Given the description of an element on the screen output the (x, y) to click on. 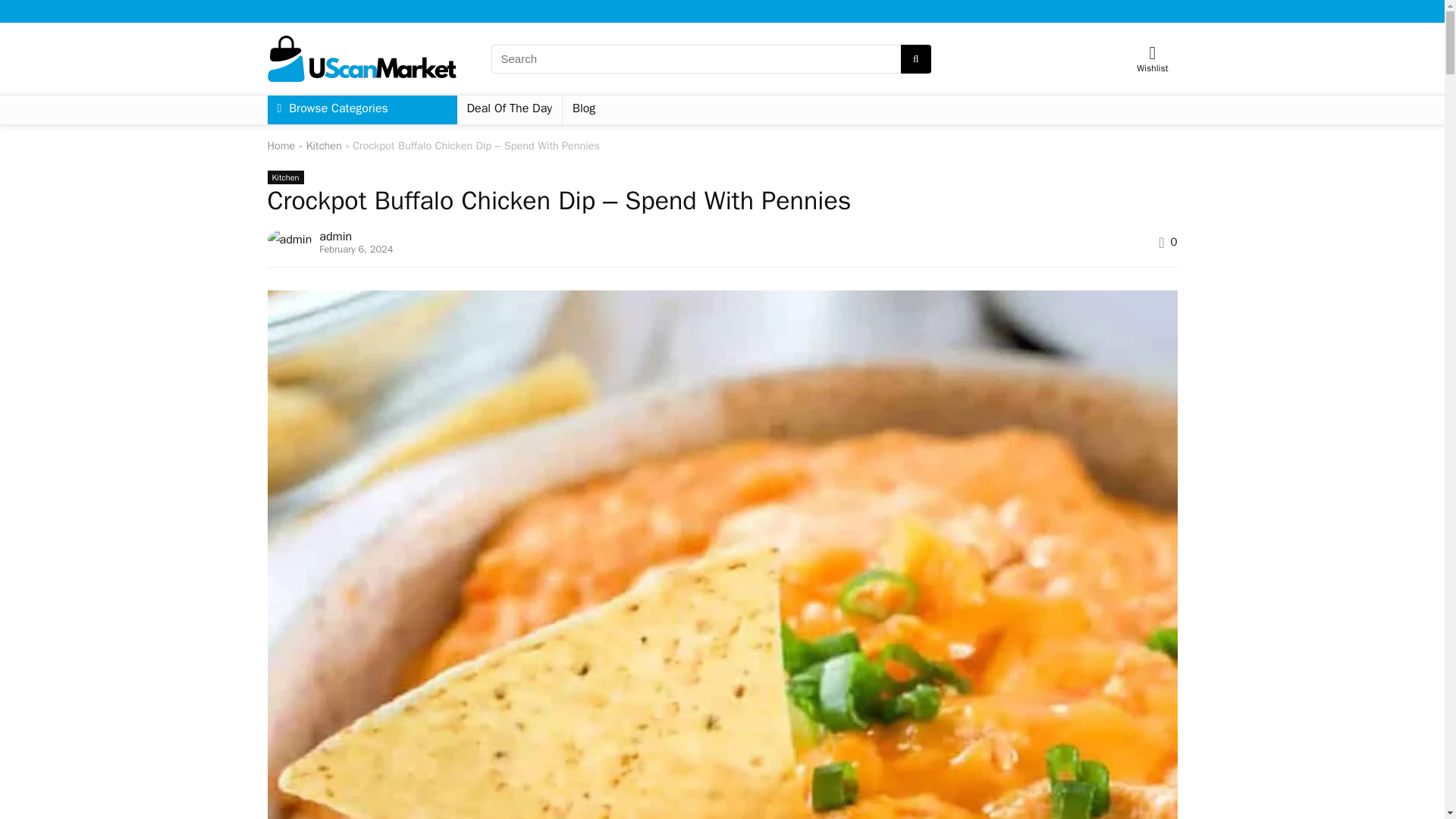
View all posts in Kitchen (284, 177)
Browse Categories (360, 109)
Kitchen (323, 145)
admin (335, 236)
Home (280, 145)
Deal Of The Day (509, 109)
Blog (583, 109)
Kitchen (284, 177)
